Given the description of an element on the screen output the (x, y) to click on. 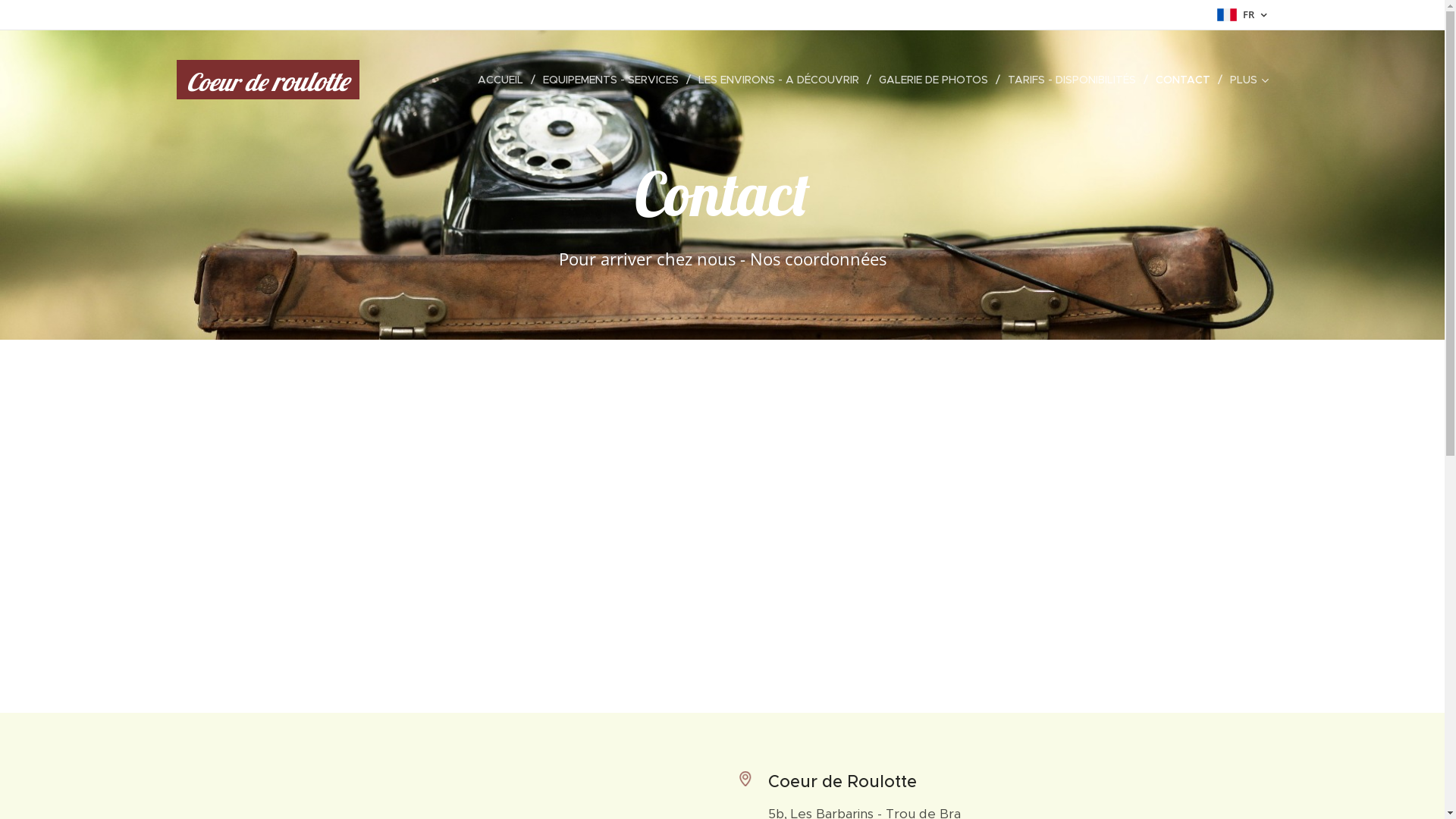
GALERIE DE PHOTOS Element type: text (934, 79)
Coeur de roulotte Element type: text (267, 79)
EQUIPEMENTS - SERVICES Element type: text (612, 79)
PLUS Element type: text (1245, 79)
CONTACT Element type: text (1185, 79)
ACCUEIL Element type: text (503, 79)
